Given the description of an element on the screen output the (x, y) to click on. 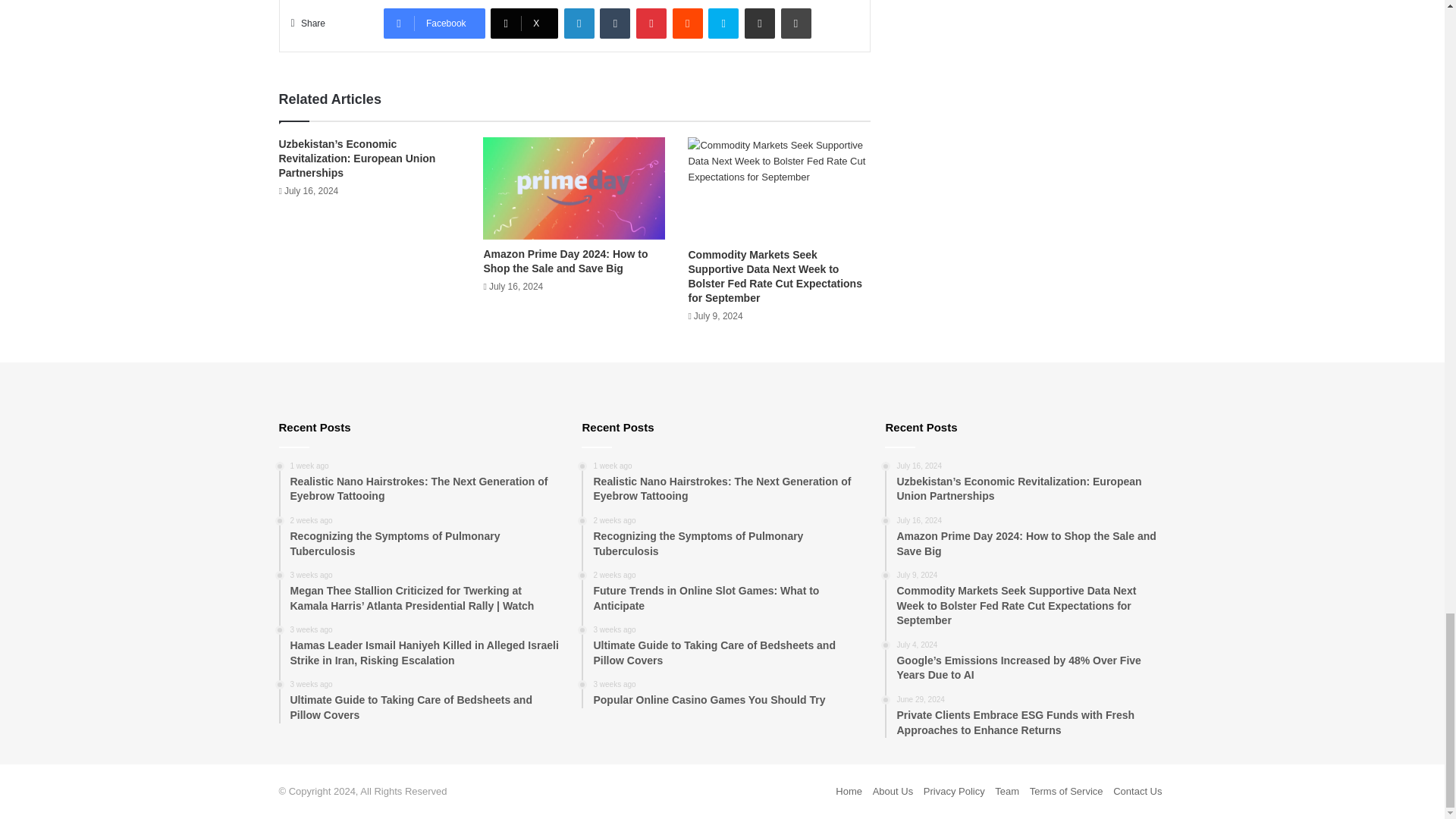
Facebook (434, 23)
X (523, 23)
Reddit (687, 23)
Tumblr (614, 23)
LinkedIn (579, 23)
LinkedIn (579, 23)
X (523, 23)
Tumblr (614, 23)
Skype (722, 23)
Skype (722, 23)
